Given the description of an element on the screen output the (x, y) to click on. 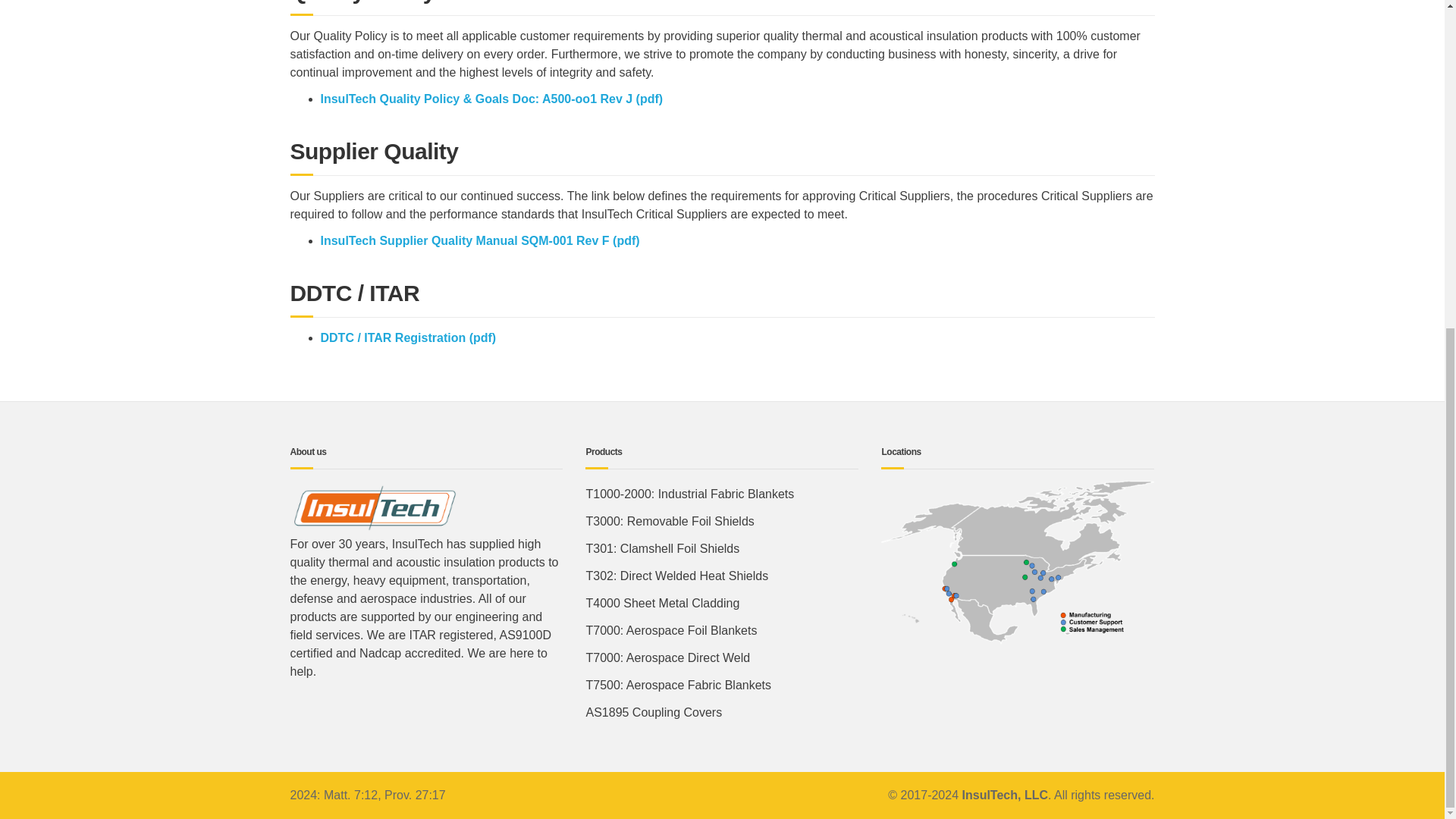
Locations (1017, 562)
